Given the description of an element on the screen output the (x, y) to click on. 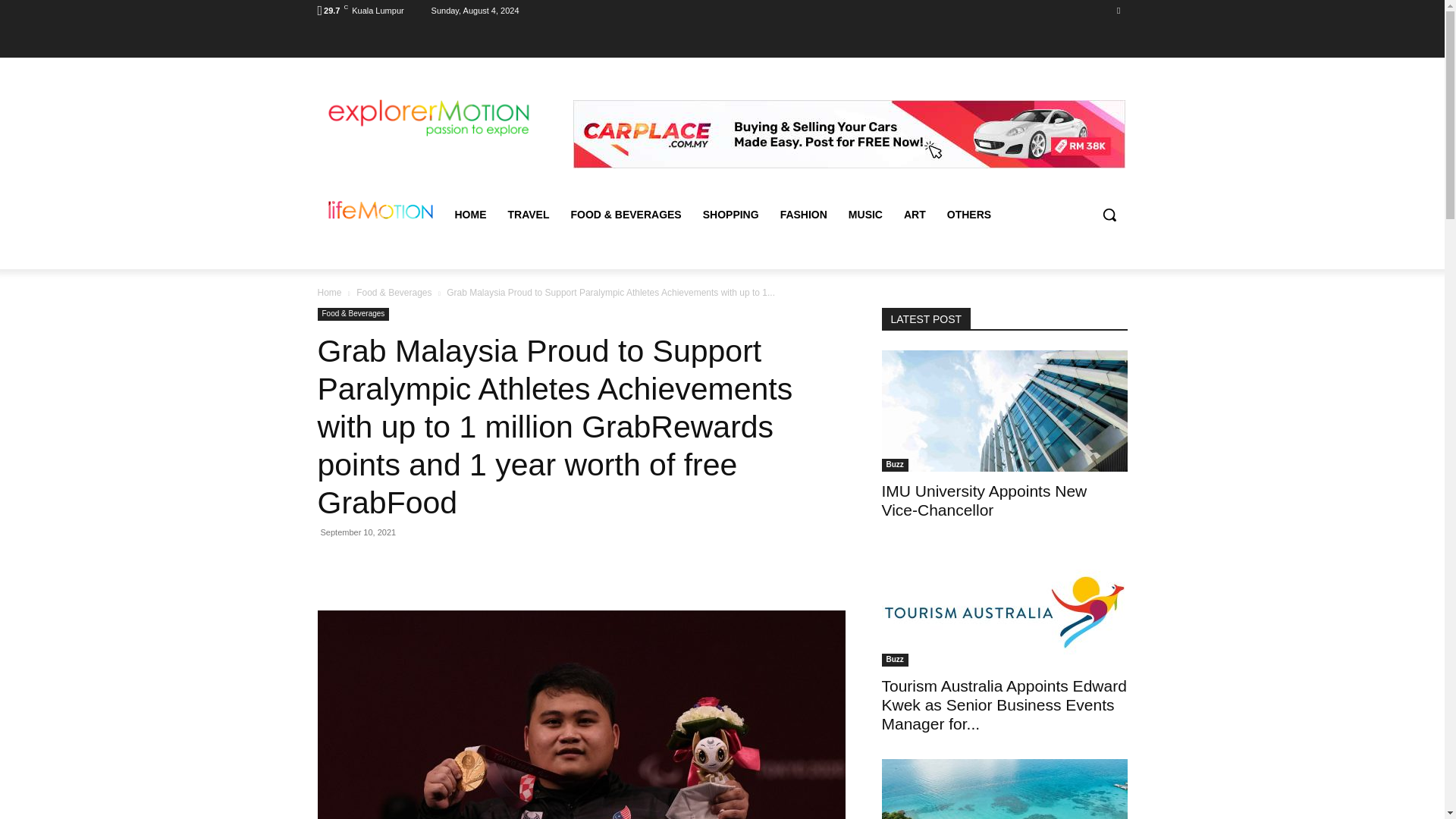
ART (914, 213)
HOME (470, 213)
FASHION (804, 213)
TRAVEL (528, 213)
OTHERS (968, 213)
Facebook (1117, 9)
SHOPPING (731, 213)
MUSIC (865, 213)
Home (328, 291)
